Given the description of an element on the screen output the (x, y) to click on. 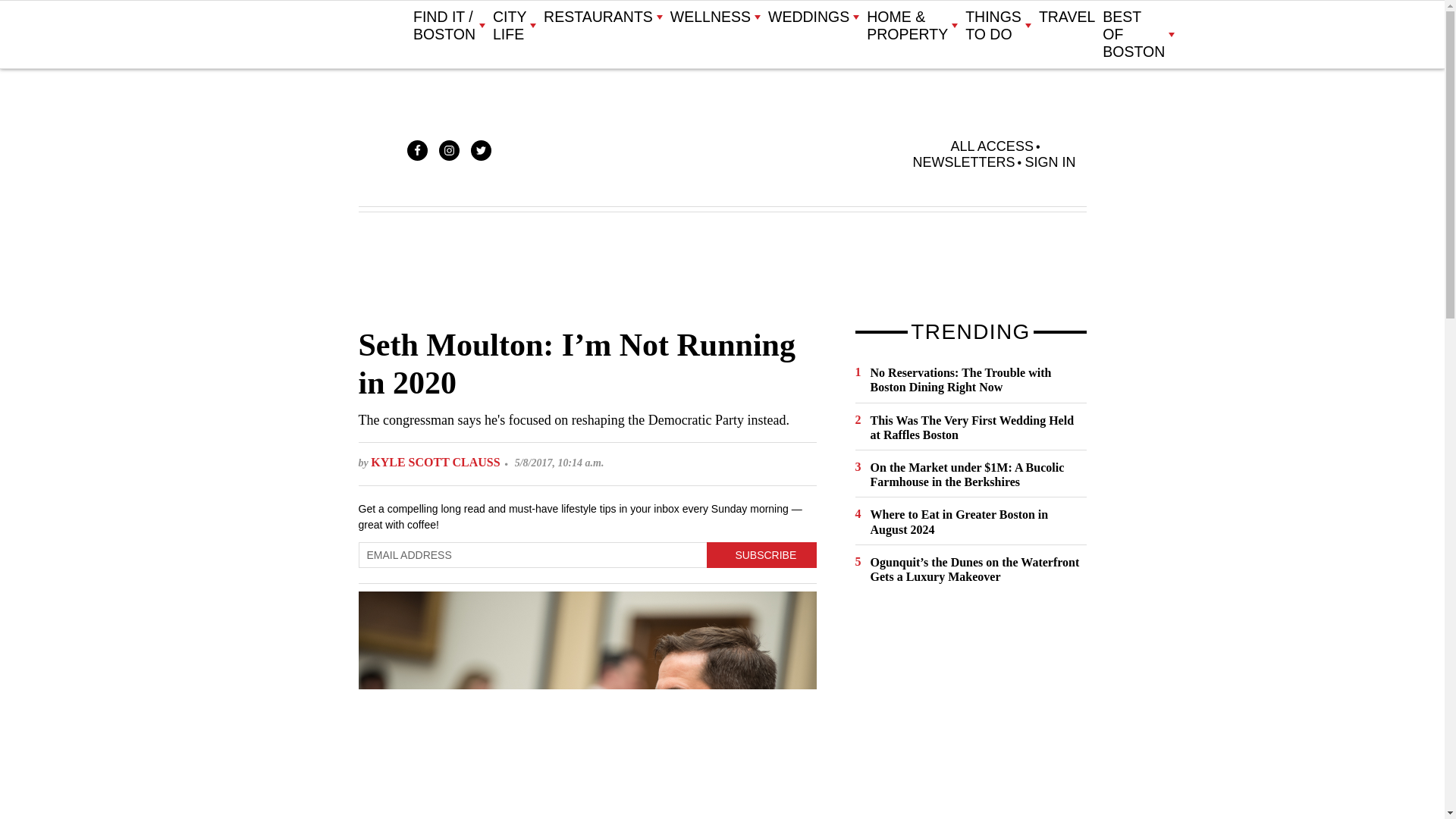
WEDDINGS (813, 16)
RESTAURANTS (602, 16)
3rd party ad content (721, 269)
WELLNESS (714, 16)
Subscribe (761, 555)
3rd party ad content (969, 712)
THINGS TO DO (997, 25)
